Given the description of an element on the screen output the (x, y) to click on. 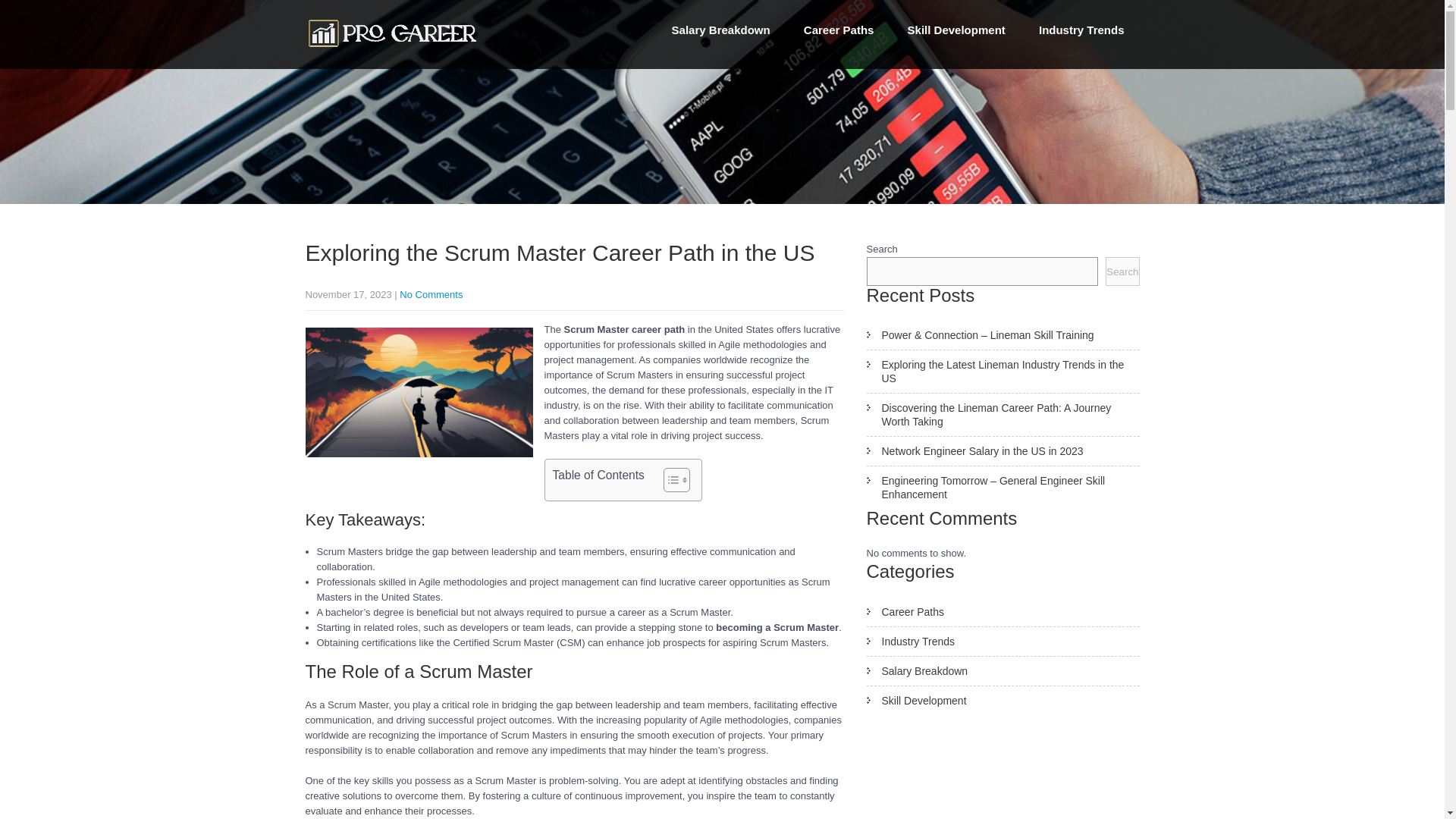
Career Paths (1002, 612)
Exploring the Latest Lineman Industry Trends in the US (1002, 371)
Discovering the Lineman Career Path: A Journey Worth Taking (1002, 414)
Industry Trends (1002, 641)
Skill Development (1002, 700)
Salary Breakdown (721, 30)
Skill Development (956, 30)
Career Paths (839, 30)
Search (1121, 271)
No Comments (430, 294)
